Given the description of an element on the screen output the (x, y) to click on. 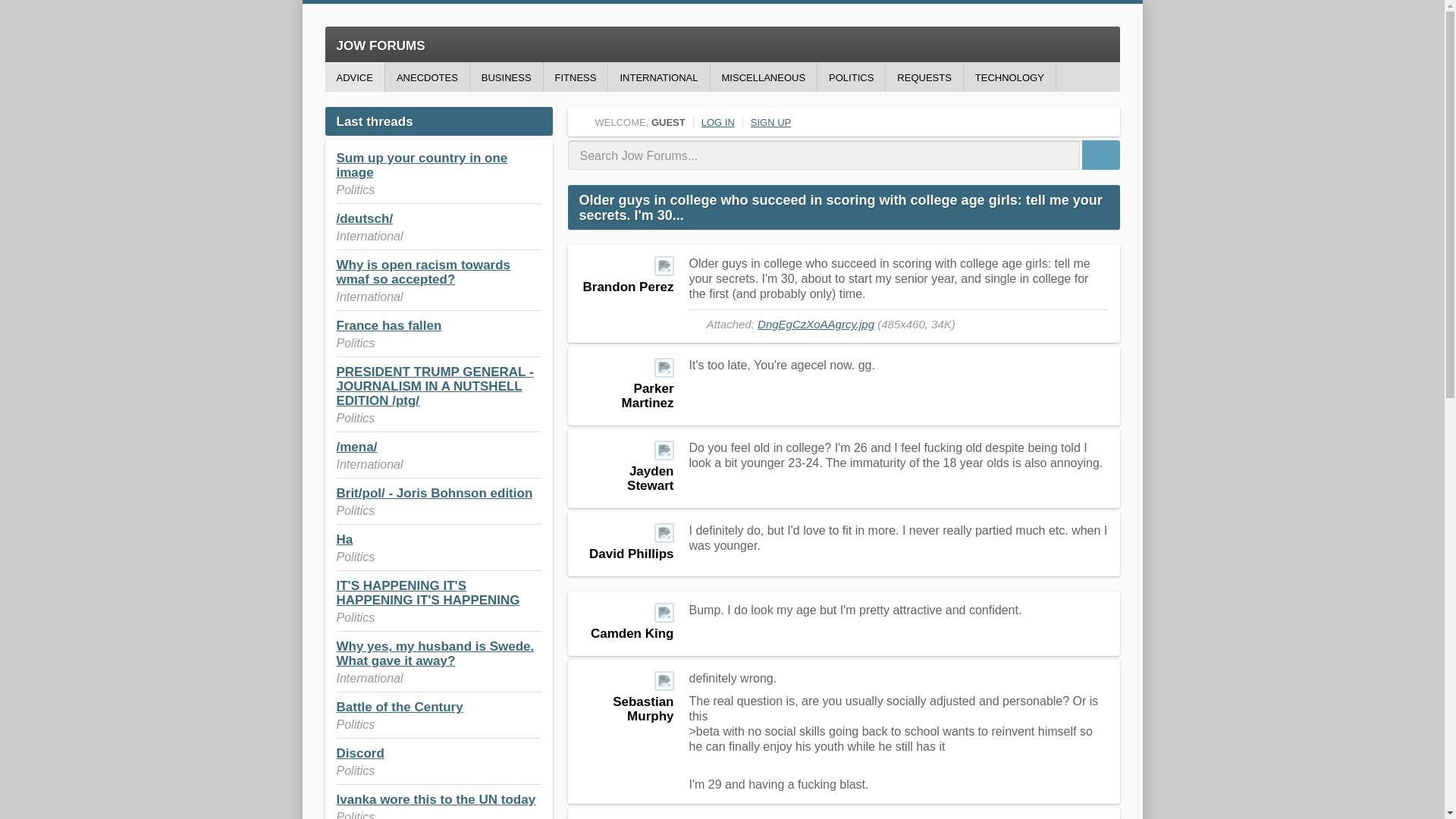
IT'S HAPPENING IT'S HAPPENING IT'S HAPPENING (427, 592)
MISCELLANEOUS (763, 76)
IT'S HAPPENING IT'S HAPPENING IT'S HAPPENING (427, 592)
DngEgCzXoAAgrcy.jpg (816, 323)
Discord (360, 753)
ANECDOTES (426, 76)
BUSINESS (506, 76)
SIGN UP (770, 122)
Sum up your country in one image (422, 164)
Sum up your country in one image (422, 164)
